Given the description of an element on the screen output the (x, y) to click on. 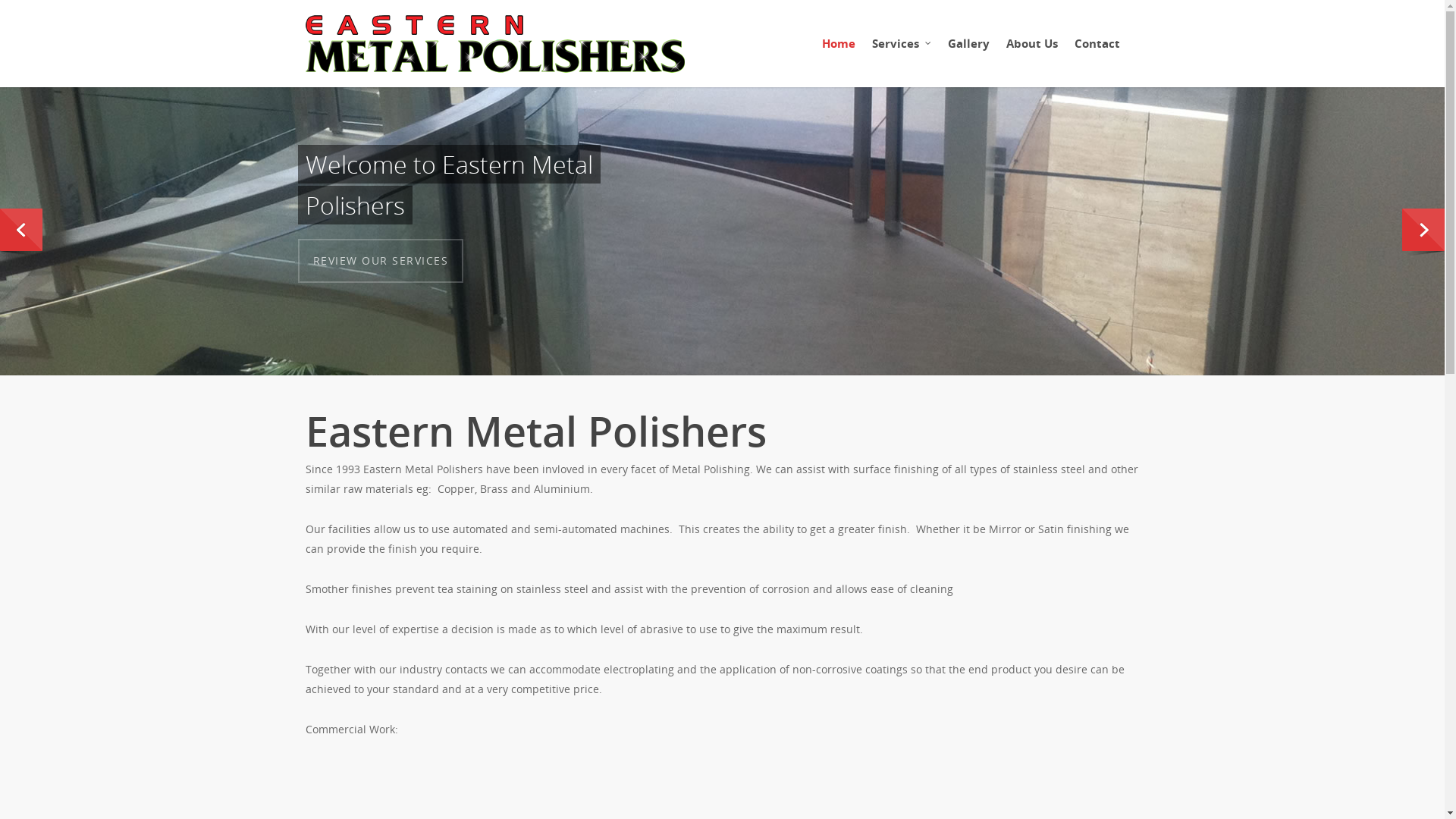
About Us Element type: text (1030, 51)
REVIEW OUR SERVICES Element type: text (380, 260)
Contact Element type: text (1096, 51)
Services Element type: text (901, 51)
Gallery Element type: text (968, 51)
Home Element type: text (838, 51)
